Given the description of an element on the screen output the (x, y) to click on. 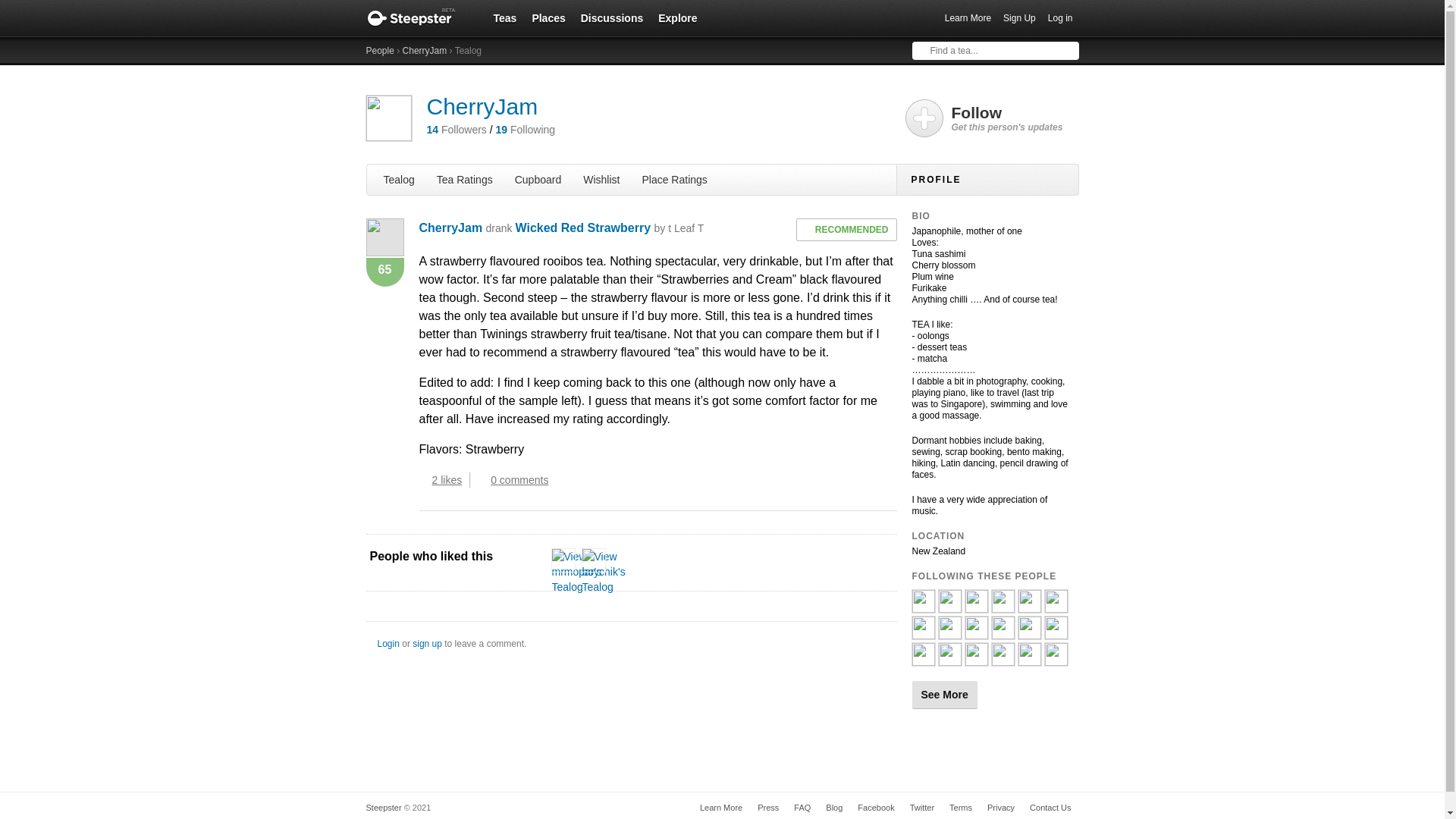
I Like This (423, 479)
Log in (1060, 18)
View Tabby's Tealog (922, 659)
Explore (677, 17)
14 Followers (456, 129)
Learn More (968, 18)
View Kittenna's Tealog (1029, 633)
CherryJam (450, 227)
Teas (504, 17)
View mrmopar's Tealog (975, 633)
Tea Ratings (465, 179)
Discussions (612, 17)
View boychik's Tealog (604, 571)
View The Cookie Lady's Tealog (1002, 606)
Places (547, 17)
